Given the description of an element on the screen output the (x, y) to click on. 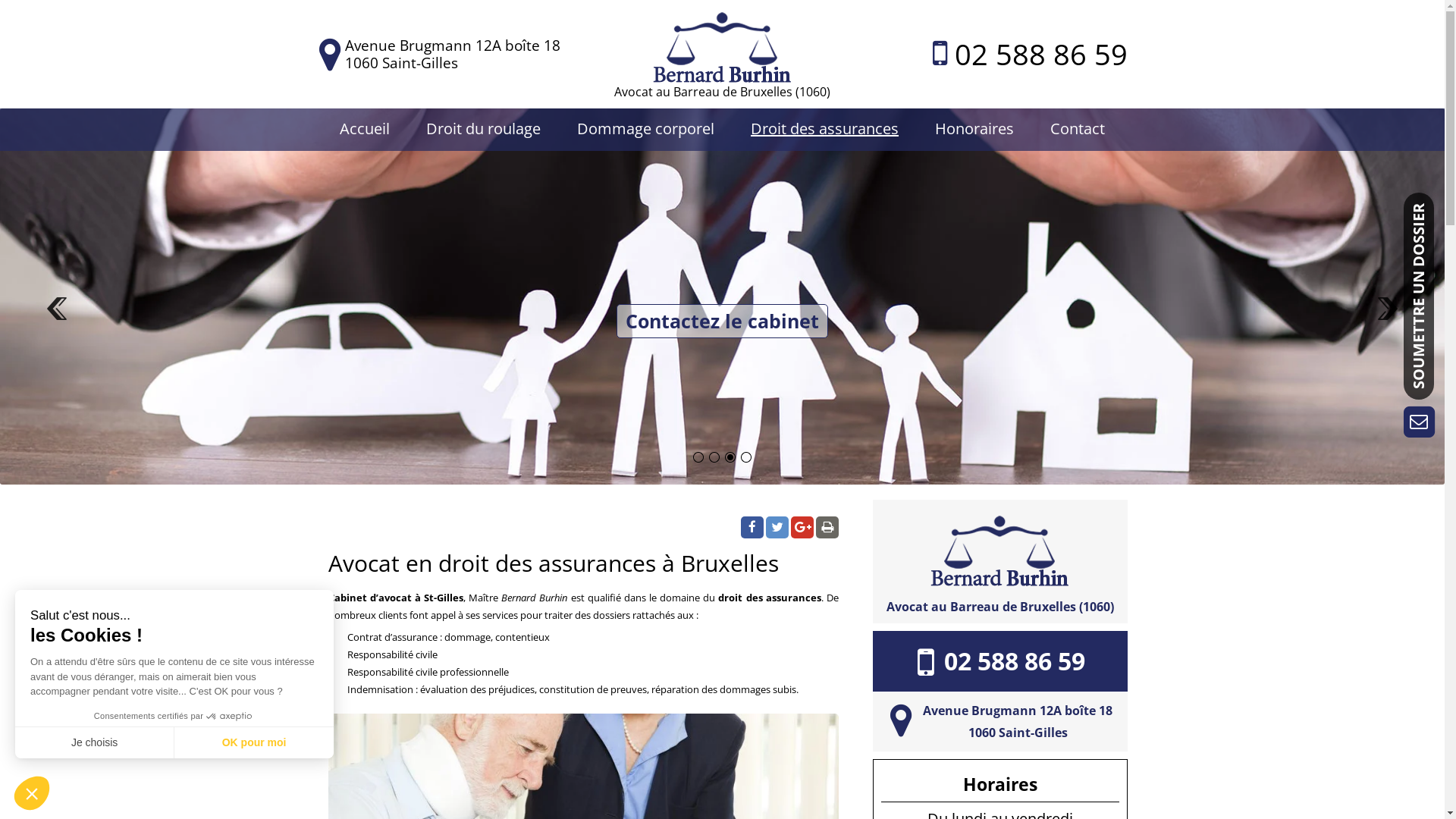
Contactez le cabinet Element type: text (722, 321)
Droit du roulage Element type: text (483, 128)
Partager sur Google + Element type: hover (801, 527)
Dommage corporel Element type: text (645, 128)
Partager sur Facebook Element type: hover (751, 527)
1 Element type: text (698, 456)
2 Element type: text (714, 456)
Previous Element type: text (58, 323)
4 Element type: text (745, 456)
Contact Element type: text (1077, 128)
Droit des assurances Element type: text (824, 128)
Honoraires Element type: text (974, 128)
Partager sur Twitter Element type: hover (776, 527)
Next Element type: text (1385, 323)
Accueil Element type: text (364, 128)
Imprimer la carte de visite Element type: hover (826, 527)
3 Element type: text (729, 456)
Bernard Burhin Element type: hover (722, 41)
